Given the description of an element on the screen output the (x, y) to click on. 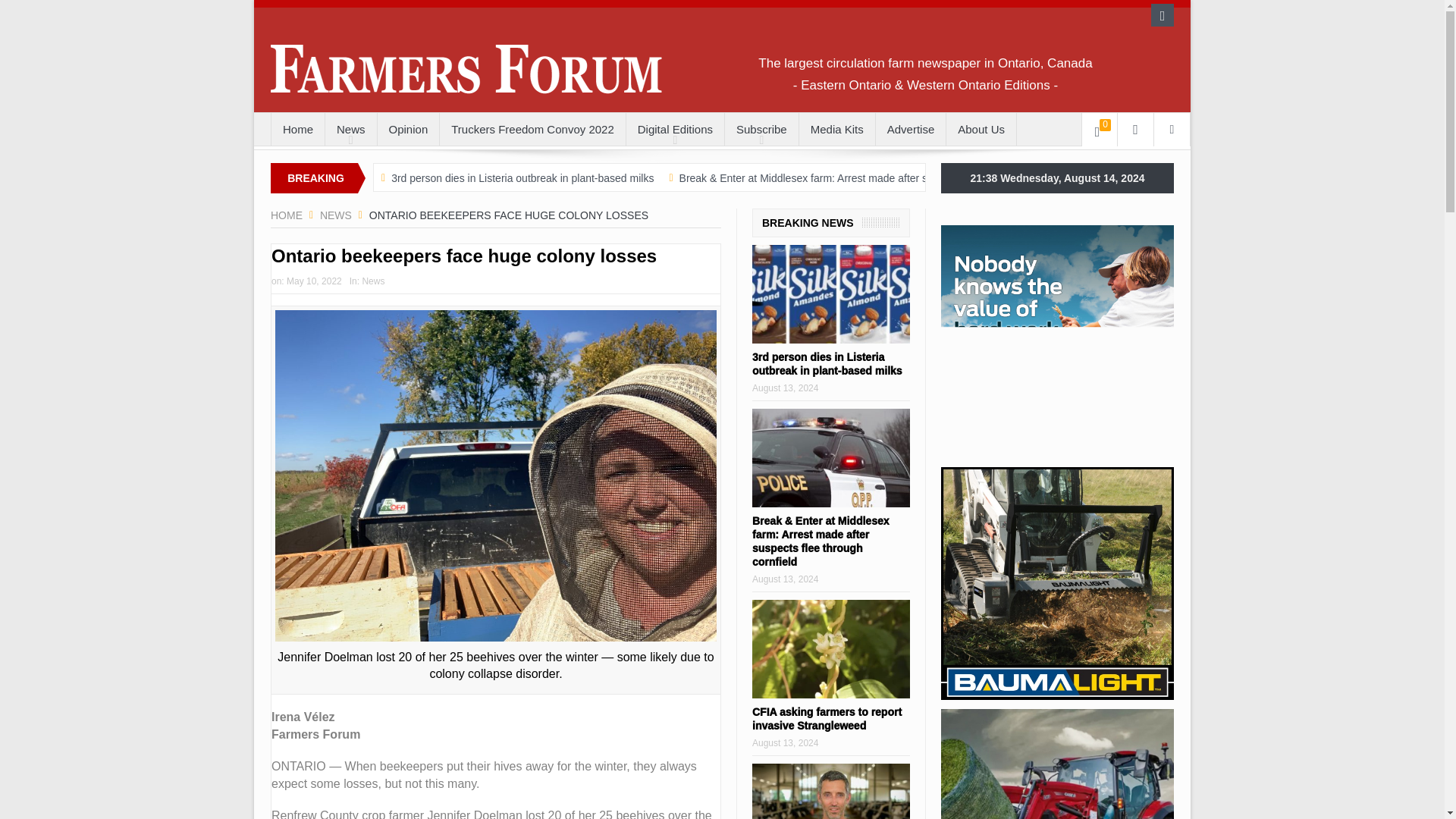
View all posts in News (372, 281)
3rd person dies in Listeria outbreak in plant-based milks (522, 177)
News (350, 129)
Digital Editions (674, 129)
0 (1099, 129)
Subscribe (761, 129)
Truckers Freedom Convoy 2022 (532, 129)
About Us (981, 129)
News (336, 215)
Media Kits (837, 129)
